Given the description of an element on the screen output the (x, y) to click on. 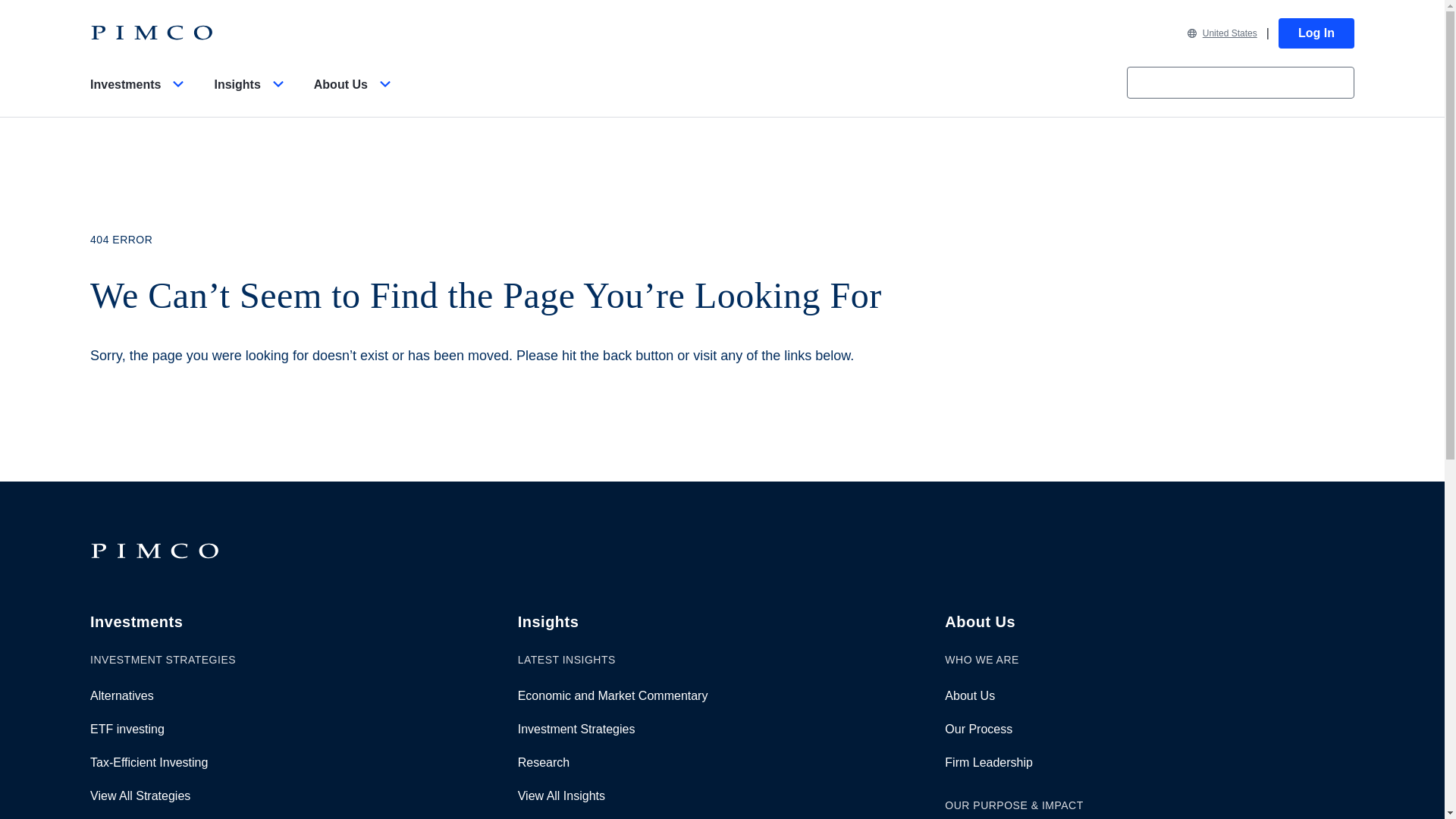
Investments (139, 96)
Log In (1316, 33)
About Us (355, 96)
Insights (251, 96)
United States (1222, 32)
PIMCO Home (151, 33)
